Given the description of an element on the screen output the (x, y) to click on. 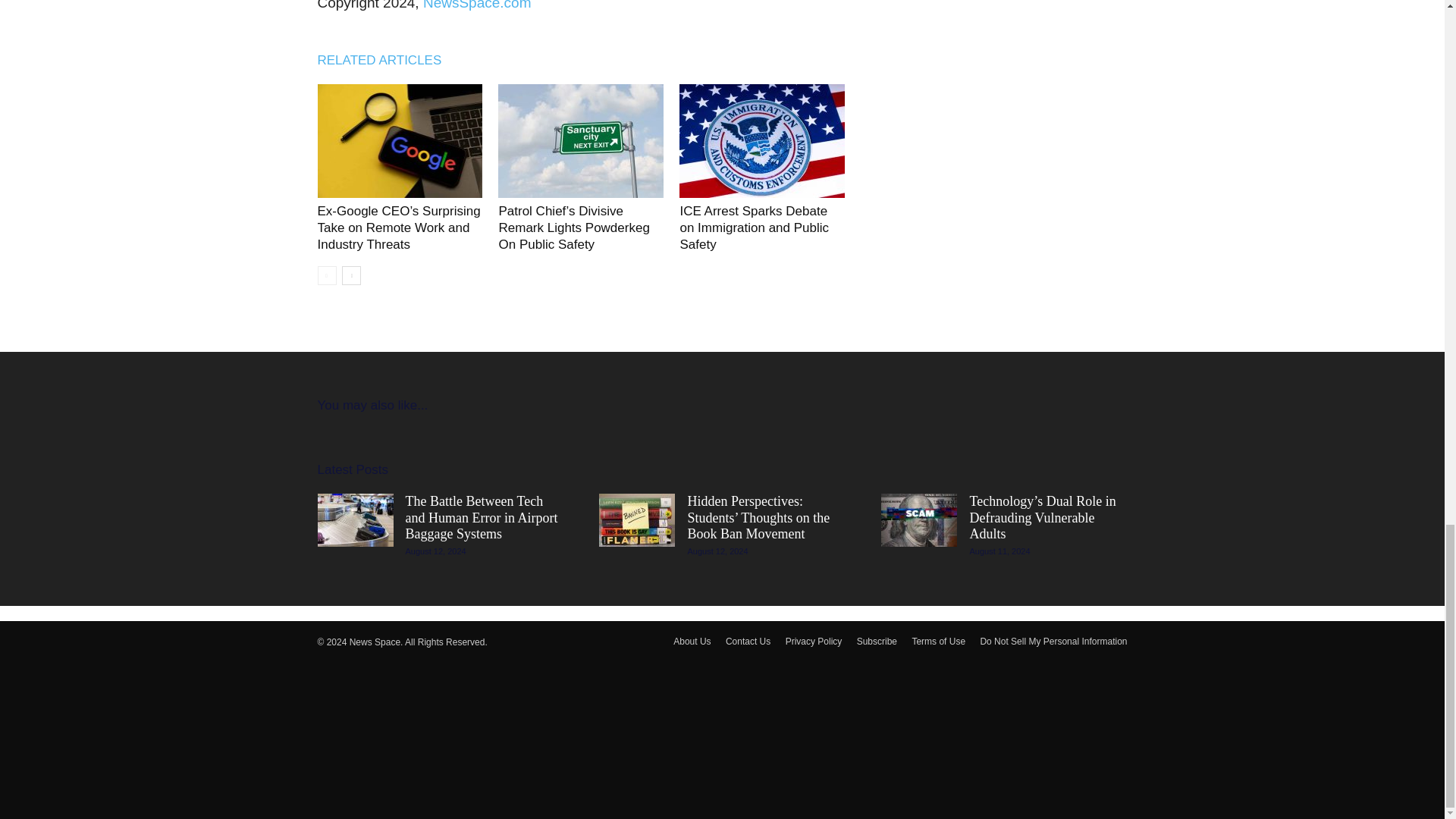
ICE Arrest Sparks Debate on Immigration and Public Safety (753, 227)
ICE Arrest Sparks Debate on Immigration and Public Safety (761, 141)
NewsSpace.com (477, 5)
RELATED ARTICLES (387, 60)
ICE Arrest Sparks Debate on Immigration and Public Safety (753, 227)
